Given the description of an element on the screen output the (x, y) to click on. 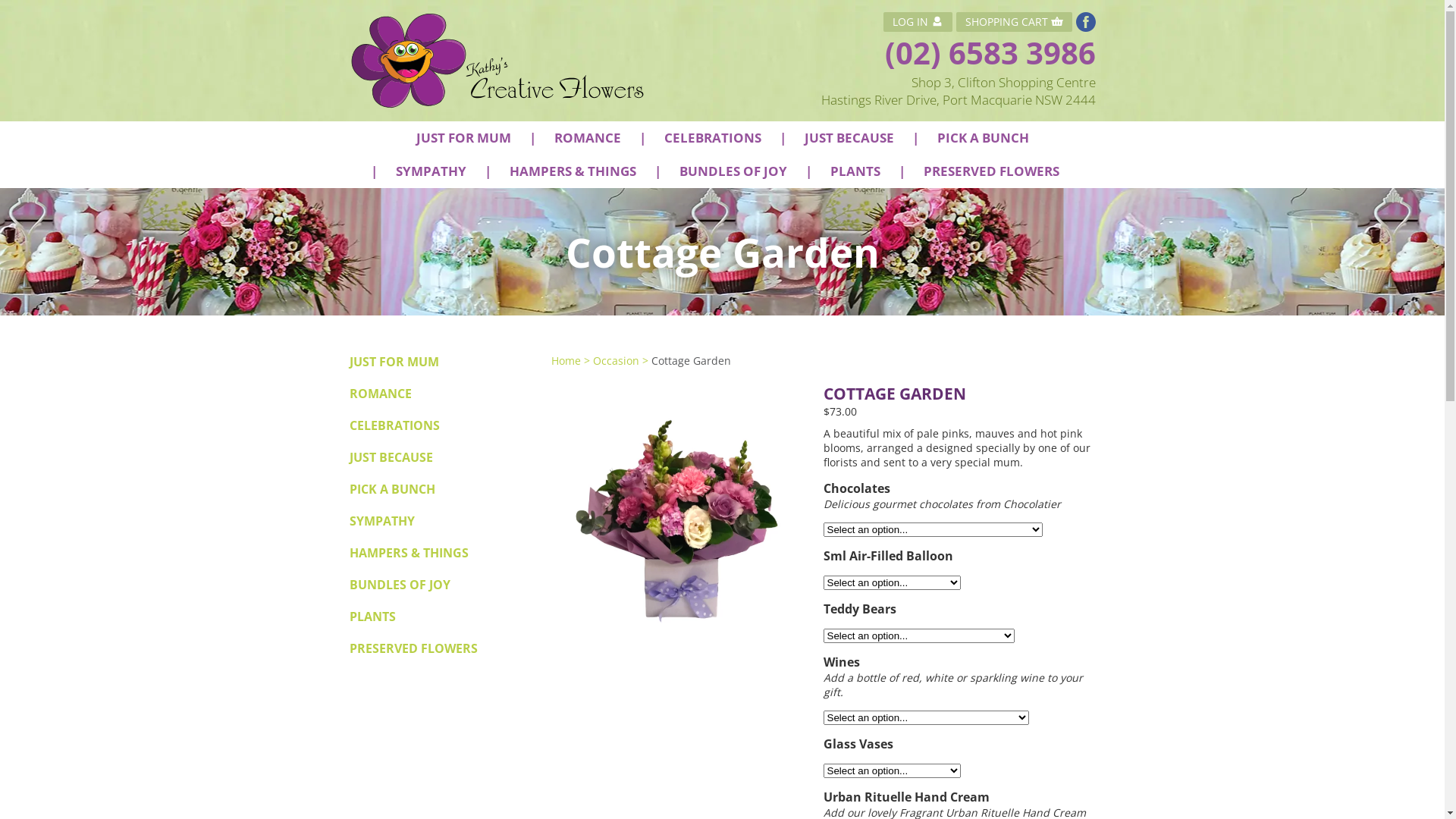
Cottage Garden Element type: text (690, 360)
HAMPERS & THINGS Element type: text (572, 171)
CELEBRATIONS Element type: text (393, 425)
SYMPATHY Element type: text (430, 171)
ROMANCE Element type: text (586, 137)
PLANTS Element type: text (854, 171)
ROMANCE Element type: text (379, 393)
PICK A BUNCH Element type: text (983, 137)
JUST FOR MUM Element type: text (393, 361)
Occasion Element type: text (616, 360)
Home Element type: text (565, 360)
JUST BECAUSE Element type: text (848, 137)
Like us on Facebook Element type: hover (1085, 21)
LOG IN Element type: text (916, 21)
CELEBRATIONS Element type: text (712, 137)
PLANTS Element type: text (371, 616)
SYMPATHY Element type: text (381, 520)
PRESERVED FLOWERS Element type: text (412, 648)
BUNDLES OF JOY Element type: text (733, 171)
(02) 6583 3986 Element type: text (989, 52)
JUST BECAUSE Element type: text (390, 456)
HAMPERS & THINGS Element type: text (407, 552)
Cottage-Garden Element type: hover (678, 511)
PICK A BUNCH Element type: text (391, 488)
JUST FOR MUM Element type: text (462, 137)
SHOPPING CART Element type: text (1013, 21)
PRESERVED FLOWERS Element type: text (991, 171)
BUNDLES OF JOY Element type: text (398, 584)
